Given the description of an element on the screen output the (x, y) to click on. 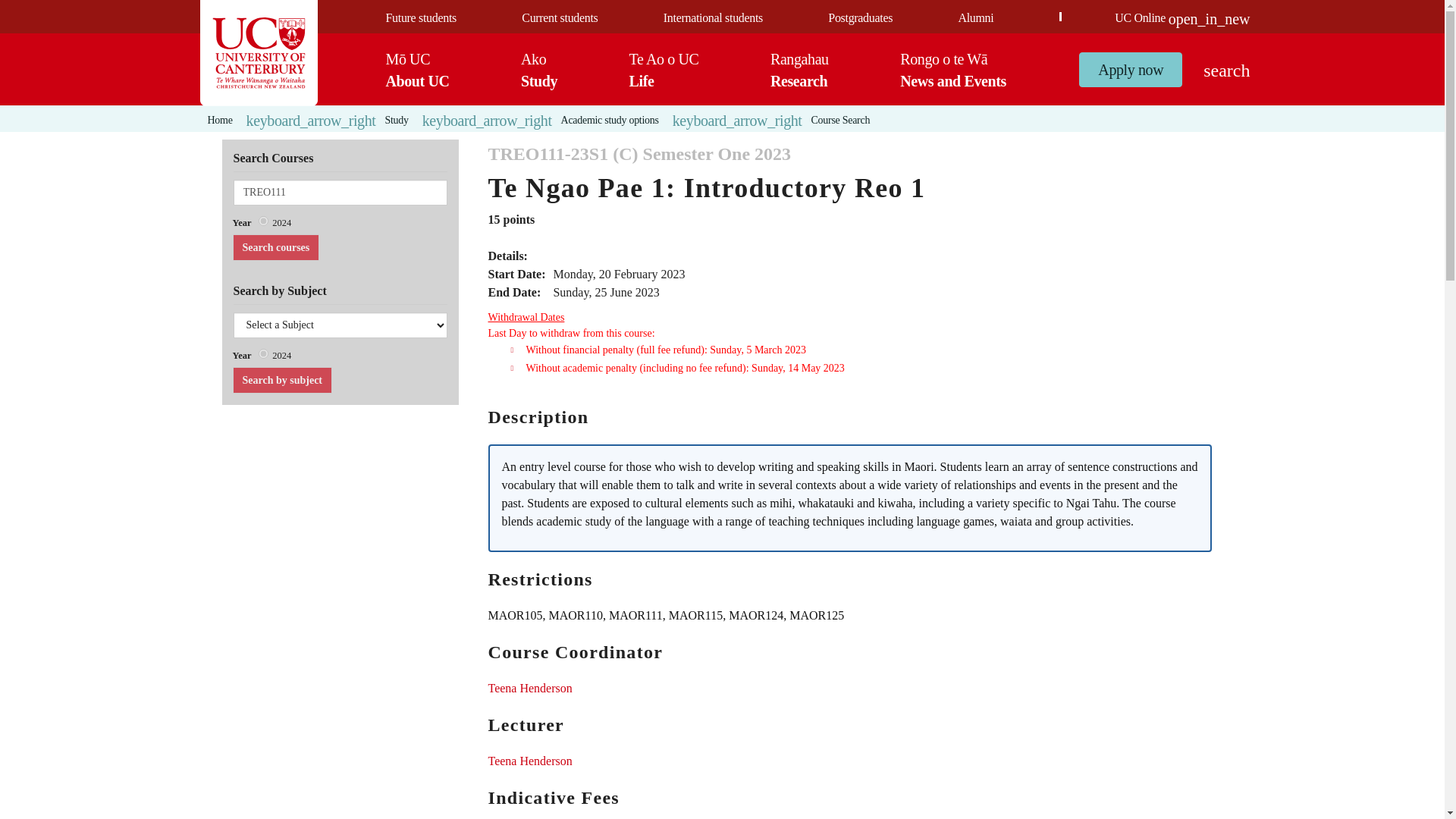
Current students (558, 17)
2024 (263, 353)
International students (712, 17)
Search by subject (281, 379)
TREO111 (339, 192)
Search courses (274, 247)
Postgraduates (860, 17)
2024 (539, 69)
Search courses (263, 221)
Future students (274, 247)
Alumni (420, 17)
Search by subject (975, 17)
TREO111 (281, 379)
